Given the description of an element on the screen output the (x, y) to click on. 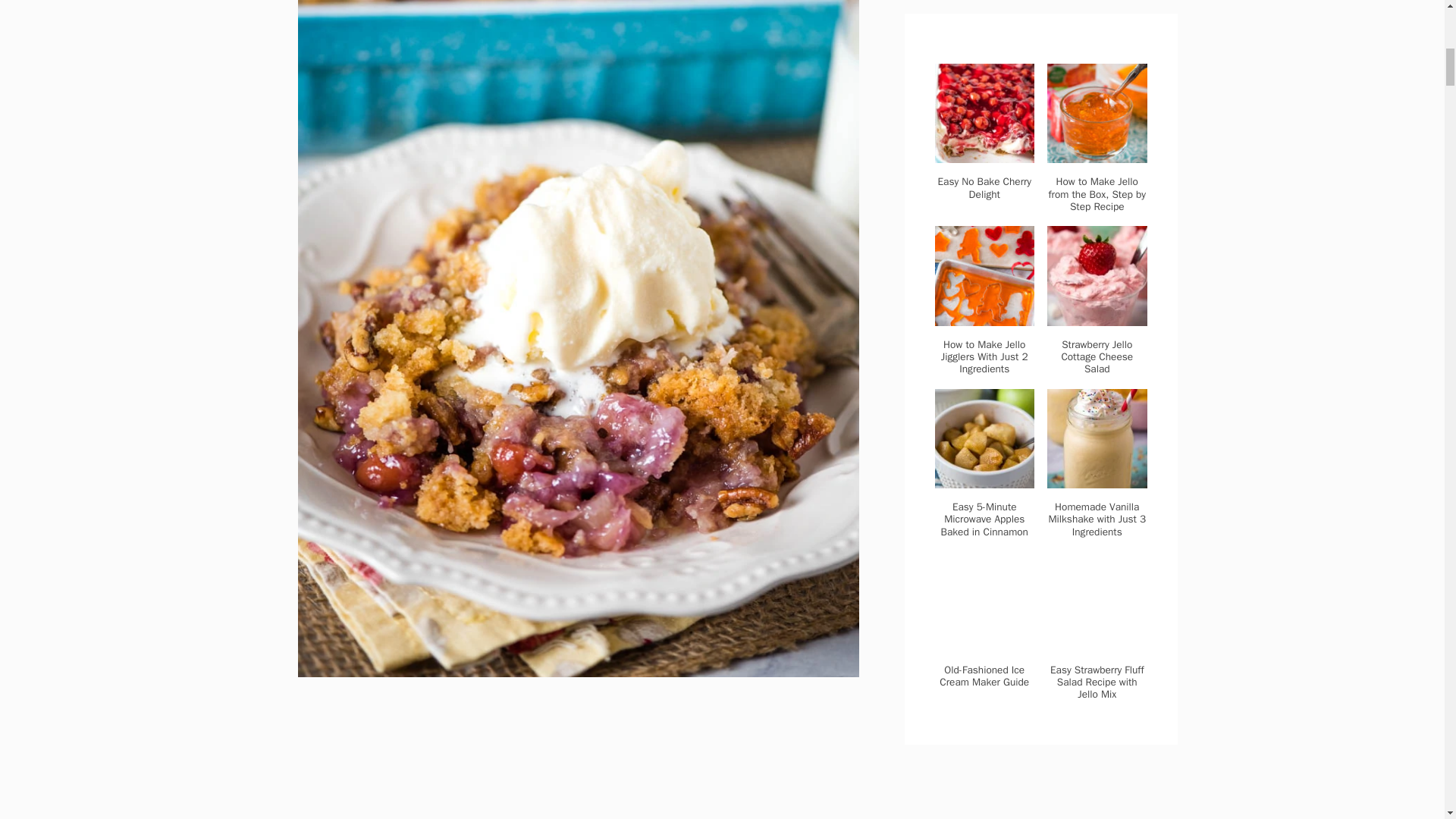
Easy No Bake Cherry Delight (983, 153)
